Given the description of an element on the screen output the (x, y) to click on. 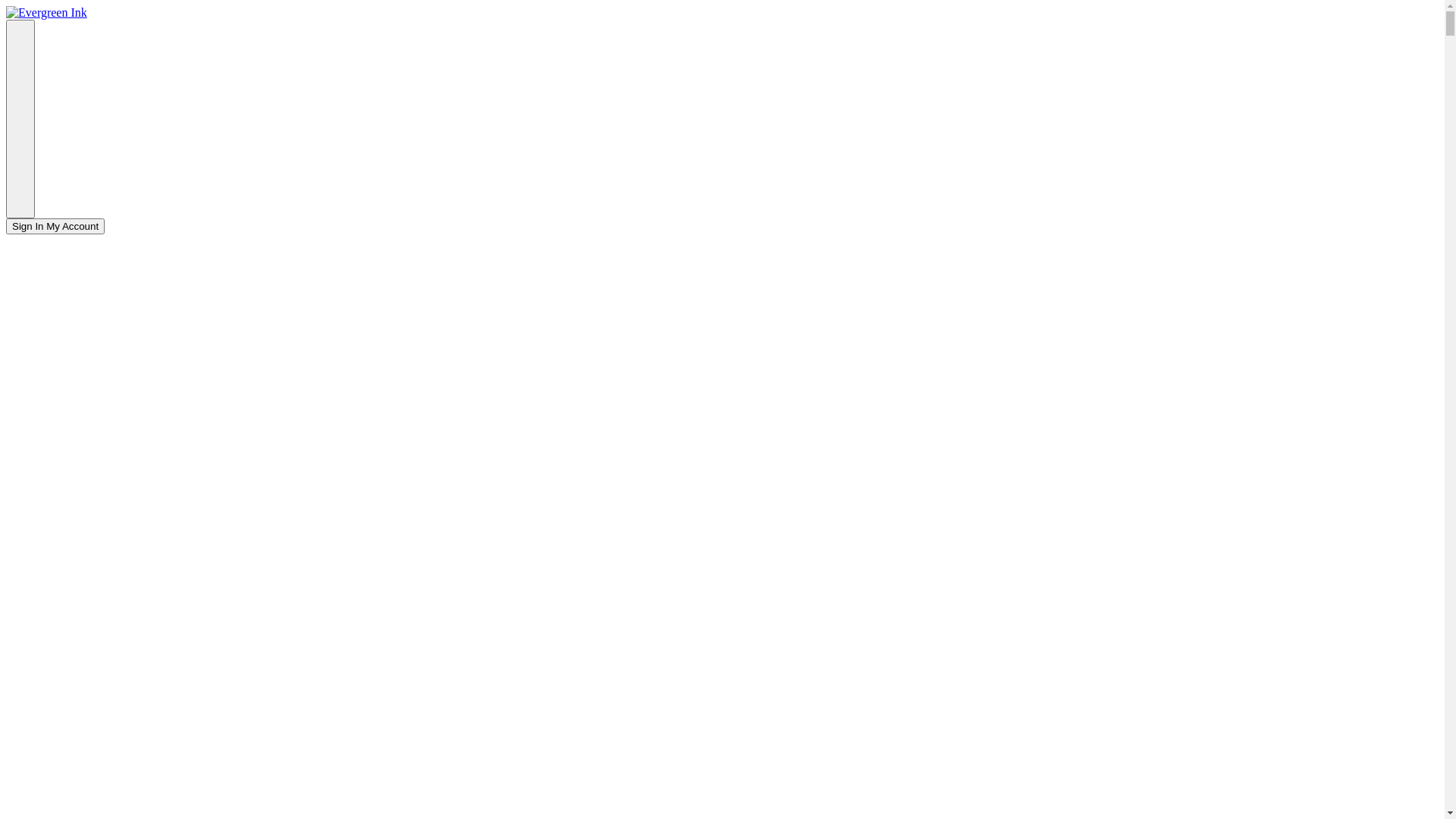
Sign In My Account Element type: text (55, 226)
